Given the description of an element on the screen output the (x, y) to click on. 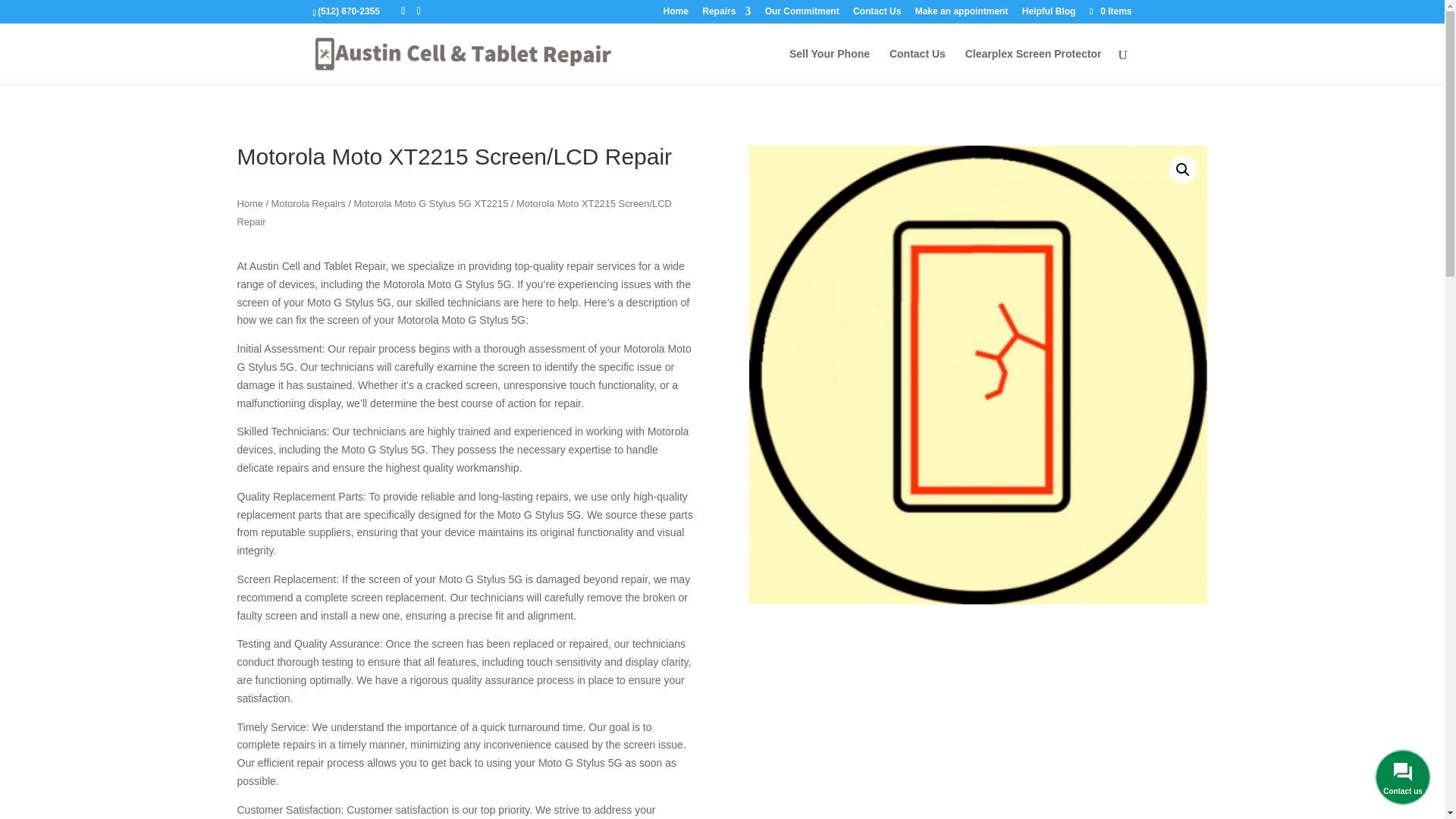
Clearplex Screen Protector (1033, 66)
Helpful Blog (1048, 14)
Contact Us (916, 66)
Home (675, 14)
0 Items (1108, 10)
Contact Us (877, 14)
Sell Your Phone (829, 66)
Repairs (726, 14)
Make an appointment (962, 14)
Our Commitment (802, 14)
